Given the description of an element on the screen output the (x, y) to click on. 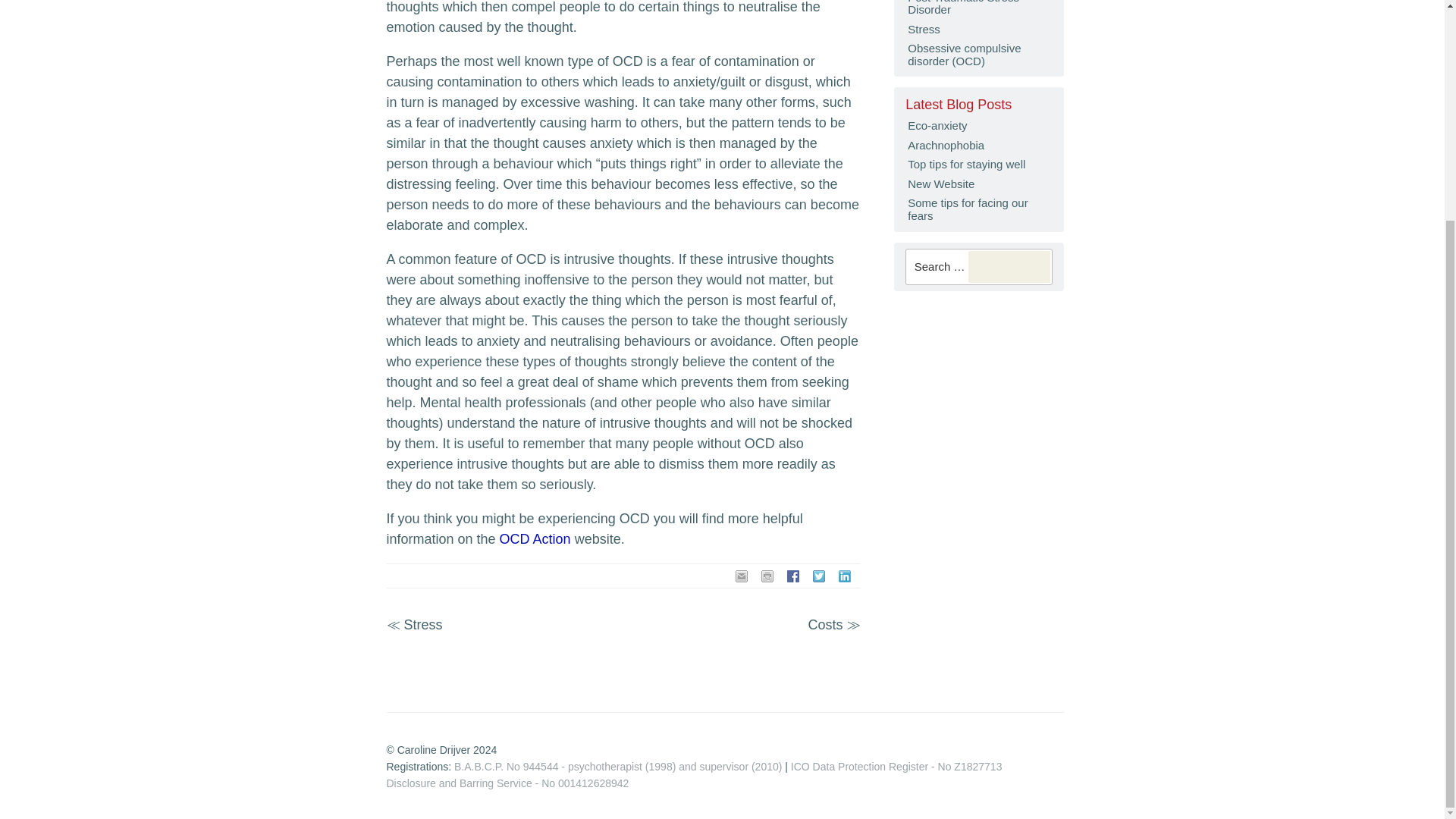
Click to print (769, 578)
OCD Action (534, 539)
Click to share on LinkedIn (846, 578)
Share on Facebook (795, 578)
Costs (825, 624)
Post Traumatic Stress Disorder (978, 9)
Click to email this to a friend (743, 578)
Click to share on Twitter (820, 578)
Stress (423, 624)
Stress (423, 624)
